Given the description of an element on the screen output the (x, y) to click on. 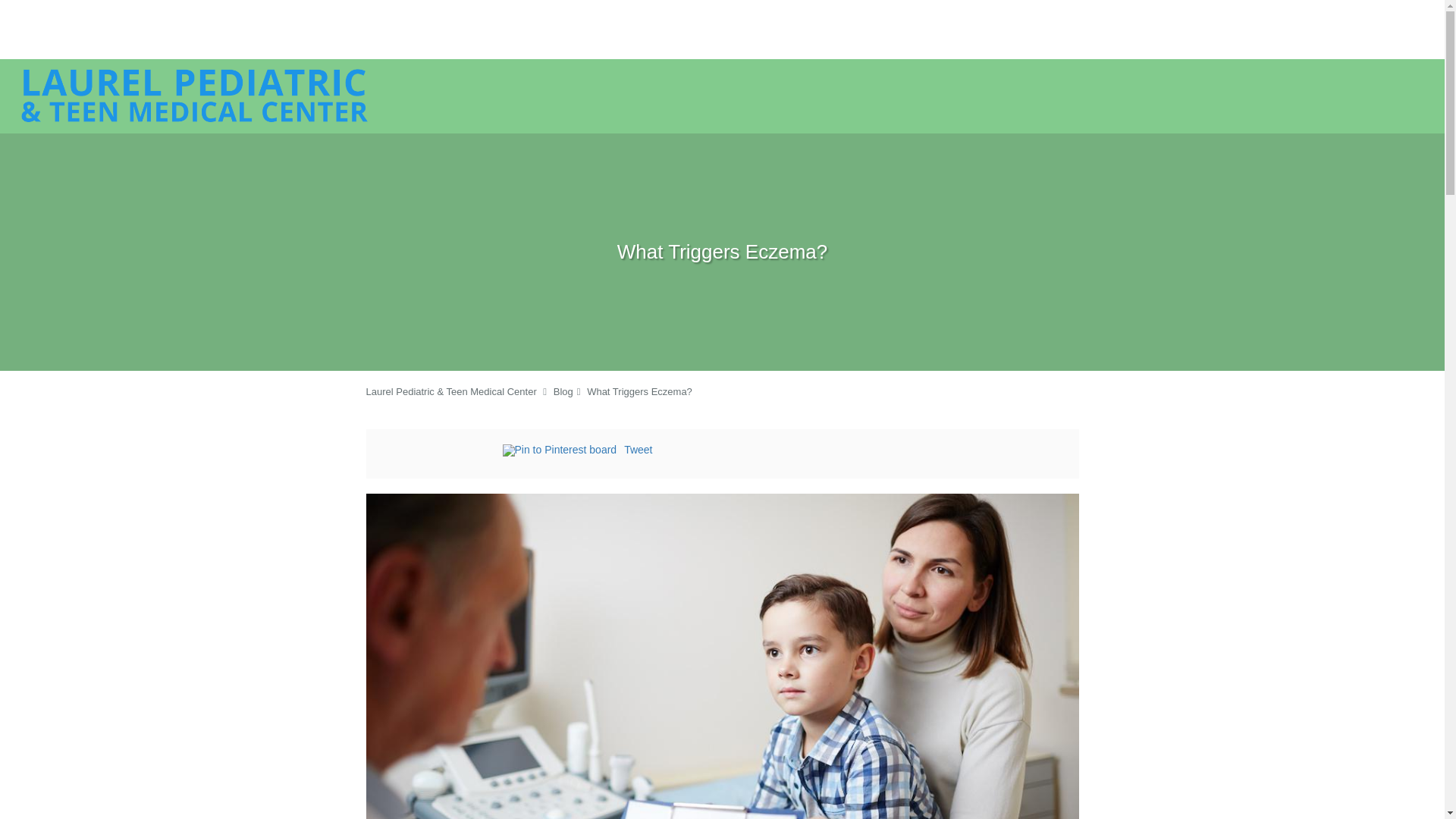
Facebook social button (441, 452)
Skip to main content (74, 66)
